Given the description of an element on the screen output the (x, y) to click on. 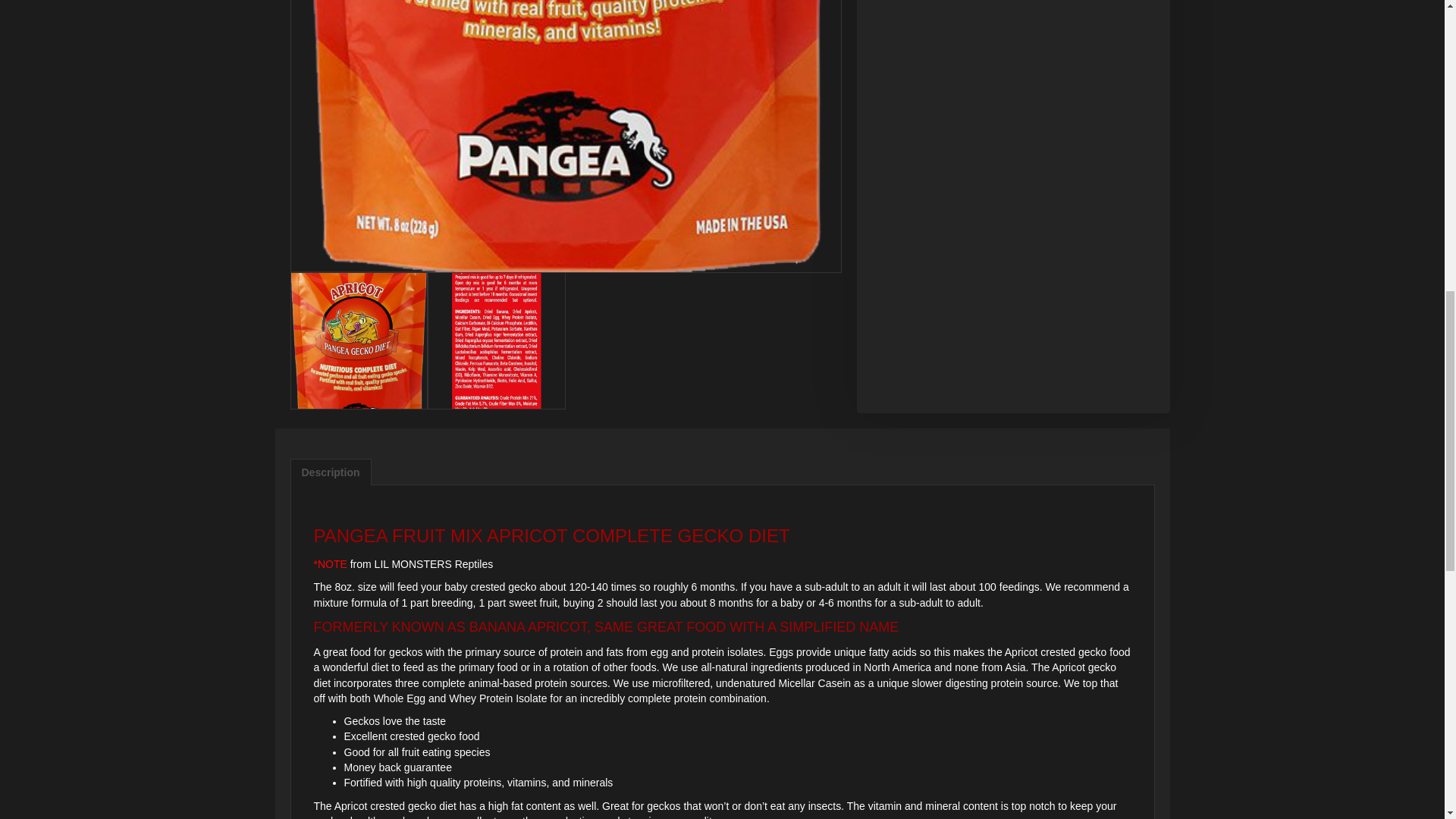
APRICOT-label (497, 340)
APRICOT-bag (358, 340)
